Given the description of an element on the screen output the (x, y) to click on. 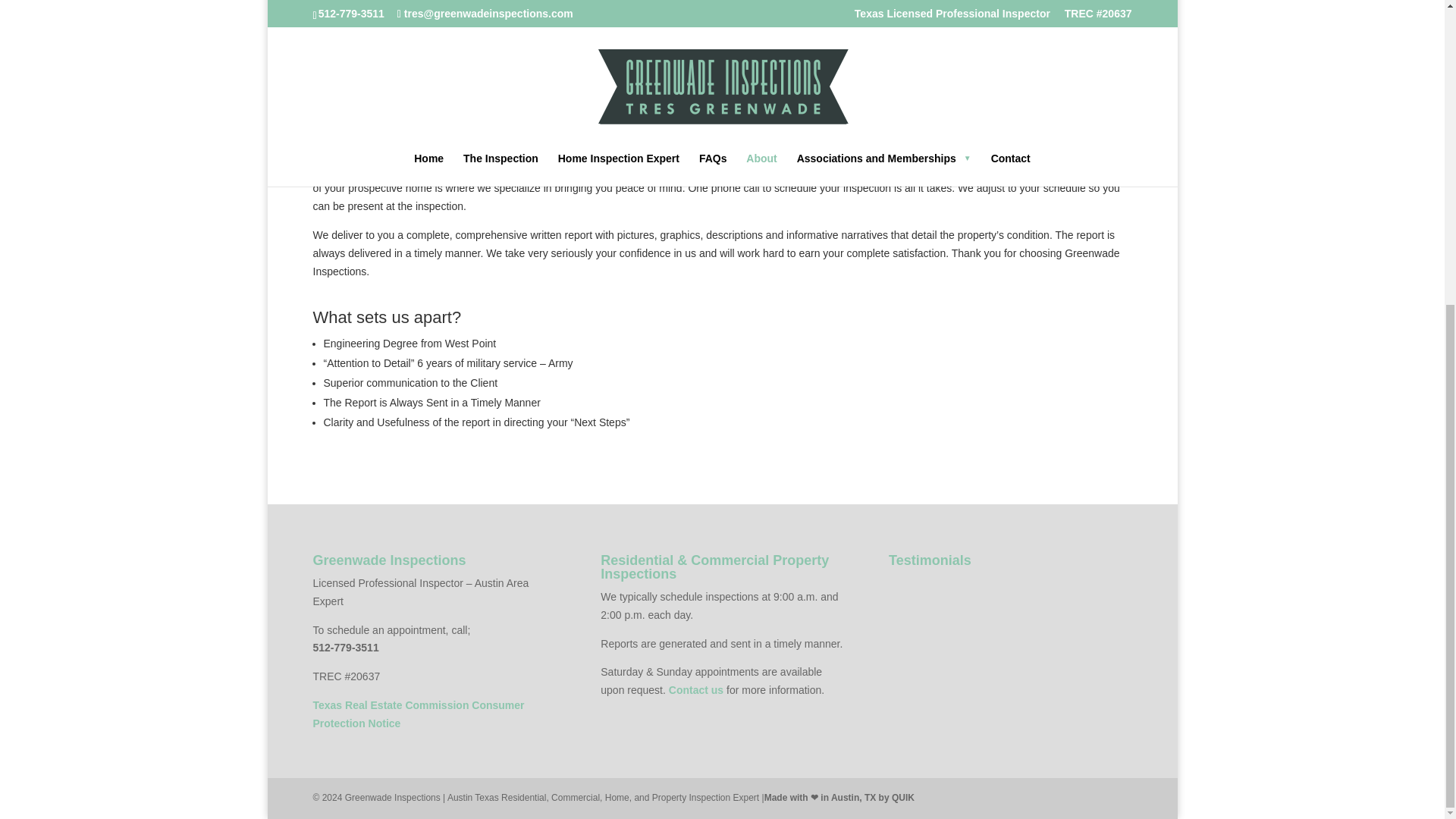
Texas Real Estate Commission Consumer Protection Notice (418, 714)
Contact us (695, 689)
